Given the description of an element on the screen output the (x, y) to click on. 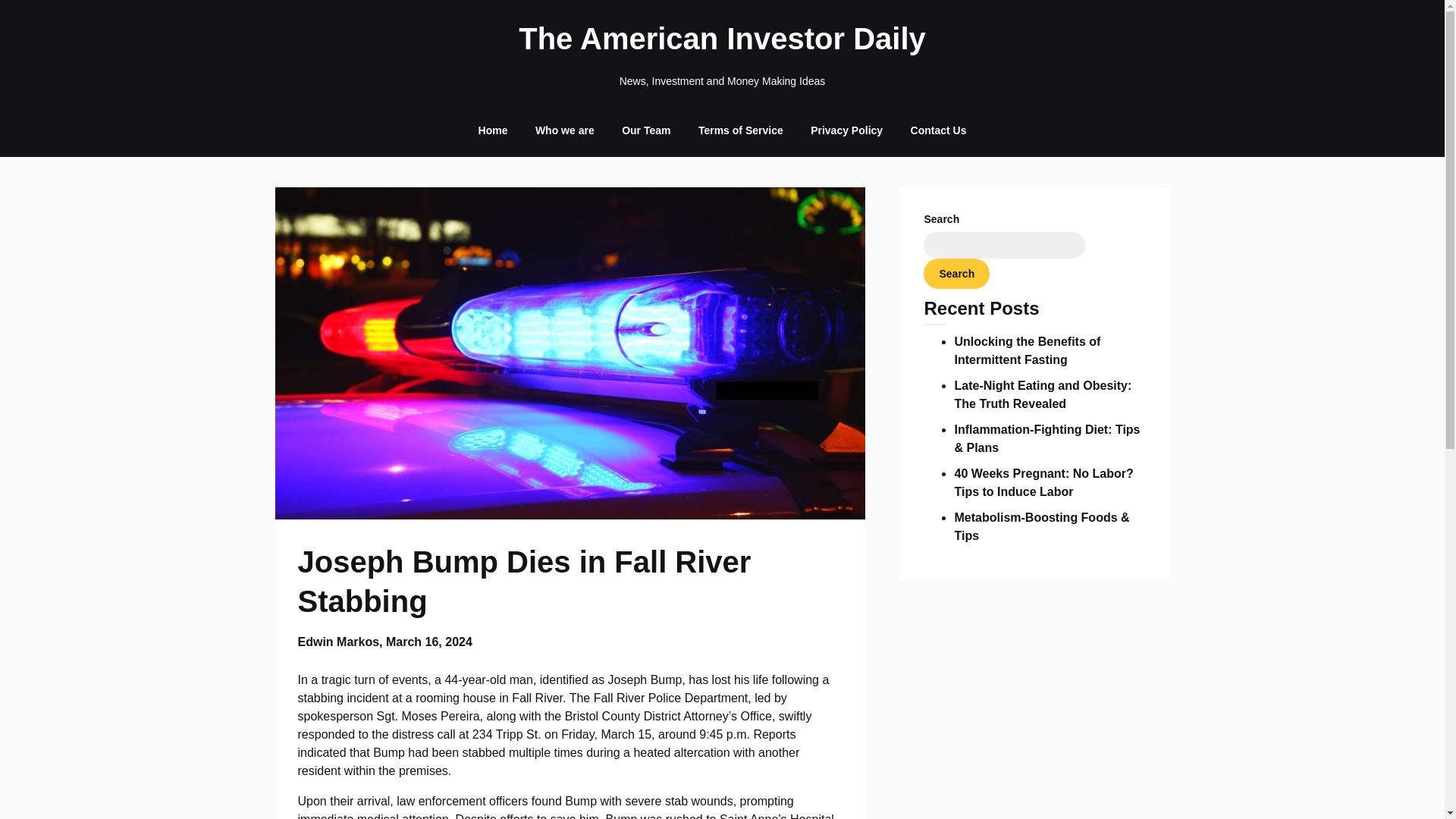
Search (956, 273)
40 Weeks Pregnant: No Labor? Tips to Induce Labor (1042, 481)
Our Team (646, 130)
March 16, 2024 (428, 641)
Terms of Service (739, 130)
Late-Night Eating and Obesity: The Truth Revealed (1042, 394)
Unlocking the Benefits of Intermittent Fasting (1026, 350)
Contact Us (938, 130)
Who we are (564, 130)
The American Investor Daily (722, 38)
